Given the description of an element on the screen output the (x, y) to click on. 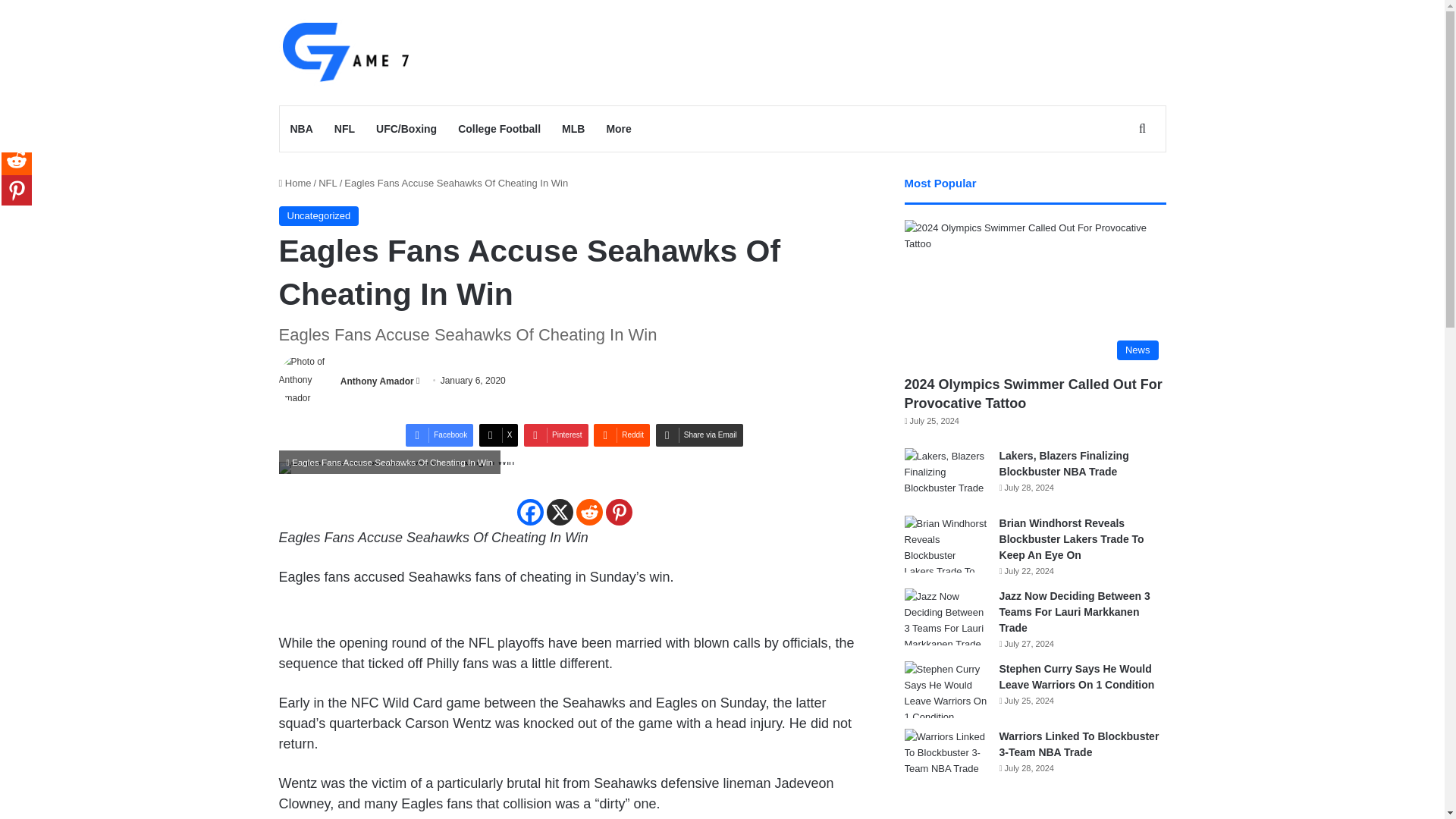
More (618, 128)
Anthony Amador (376, 380)
NFL (327, 183)
NFL (344, 128)
Pinterest (618, 511)
Reddit (621, 435)
Uncategorized (319, 216)
Anthony Amador (376, 380)
College Football (498, 128)
X (559, 511)
Facebook (439, 435)
MLB (573, 128)
Share via Email (699, 435)
Share via Email (699, 435)
Pinterest (556, 435)
